Given the description of an element on the screen output the (x, y) to click on. 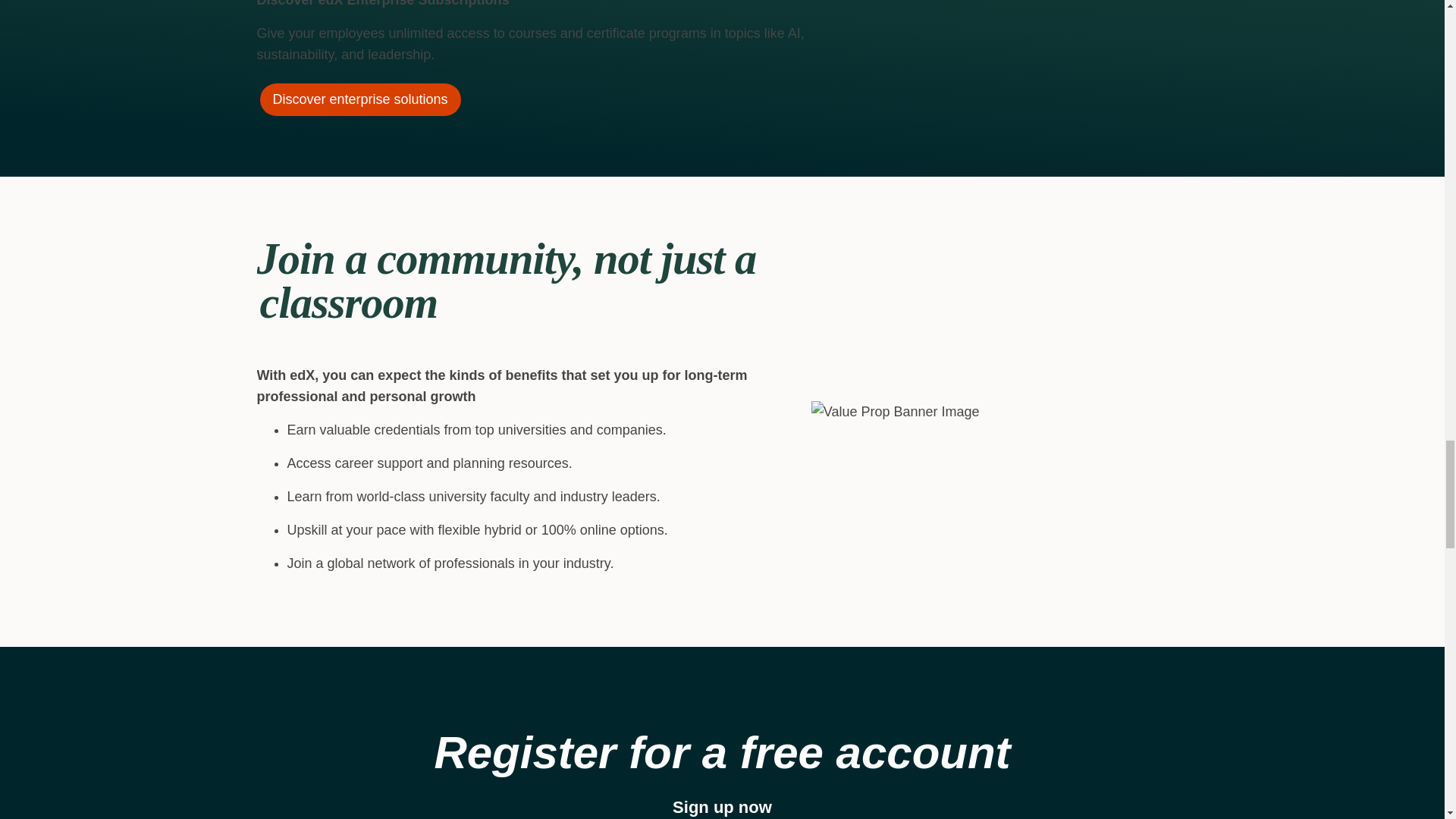
Discover enterprise solutions (359, 99)
